Given the description of an element on the screen output the (x, y) to click on. 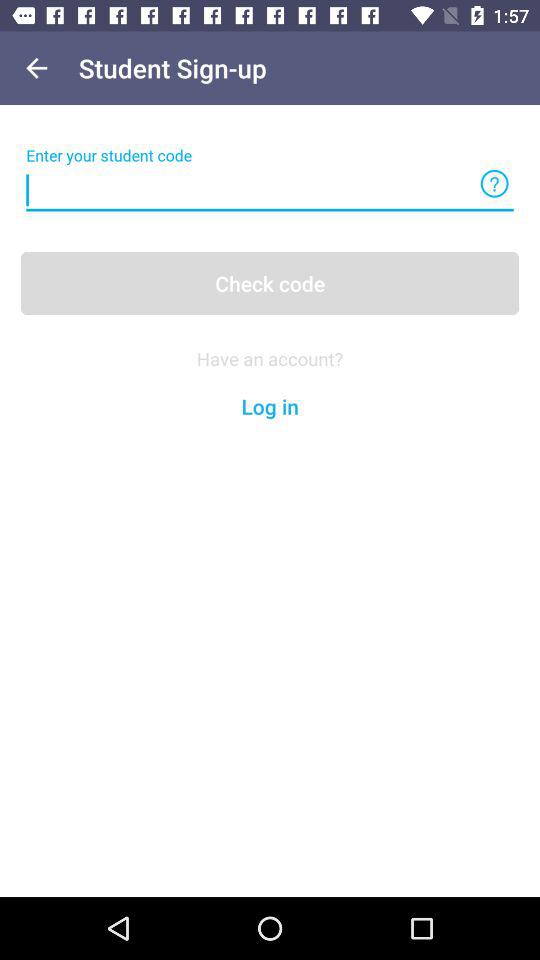
open help options (494, 183)
